Given the description of an element on the screen output the (x, y) to click on. 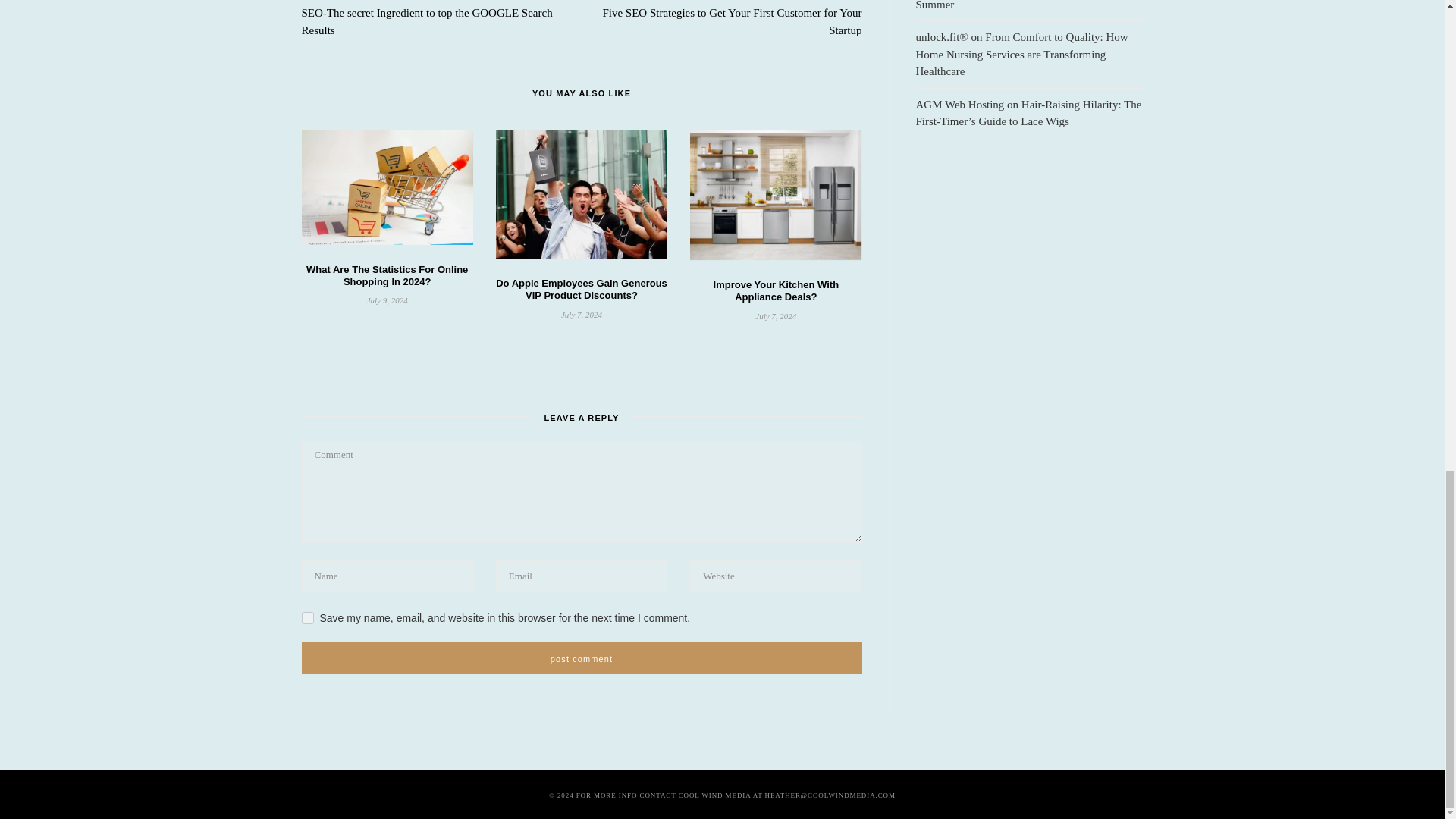
yes (307, 617)
SEO-The secret Ingredient to top the GOOGLE Search Results (427, 21)
Post Comment (581, 658)
What Are The Statistics For Online Shopping In 2024? (386, 275)
Do Apple Employees Gain Generous VIP Product Discounts? (581, 289)
Improve Your Kitchen With Appliance Deals? (776, 290)
